Given the description of an element on the screen output the (x, y) to click on. 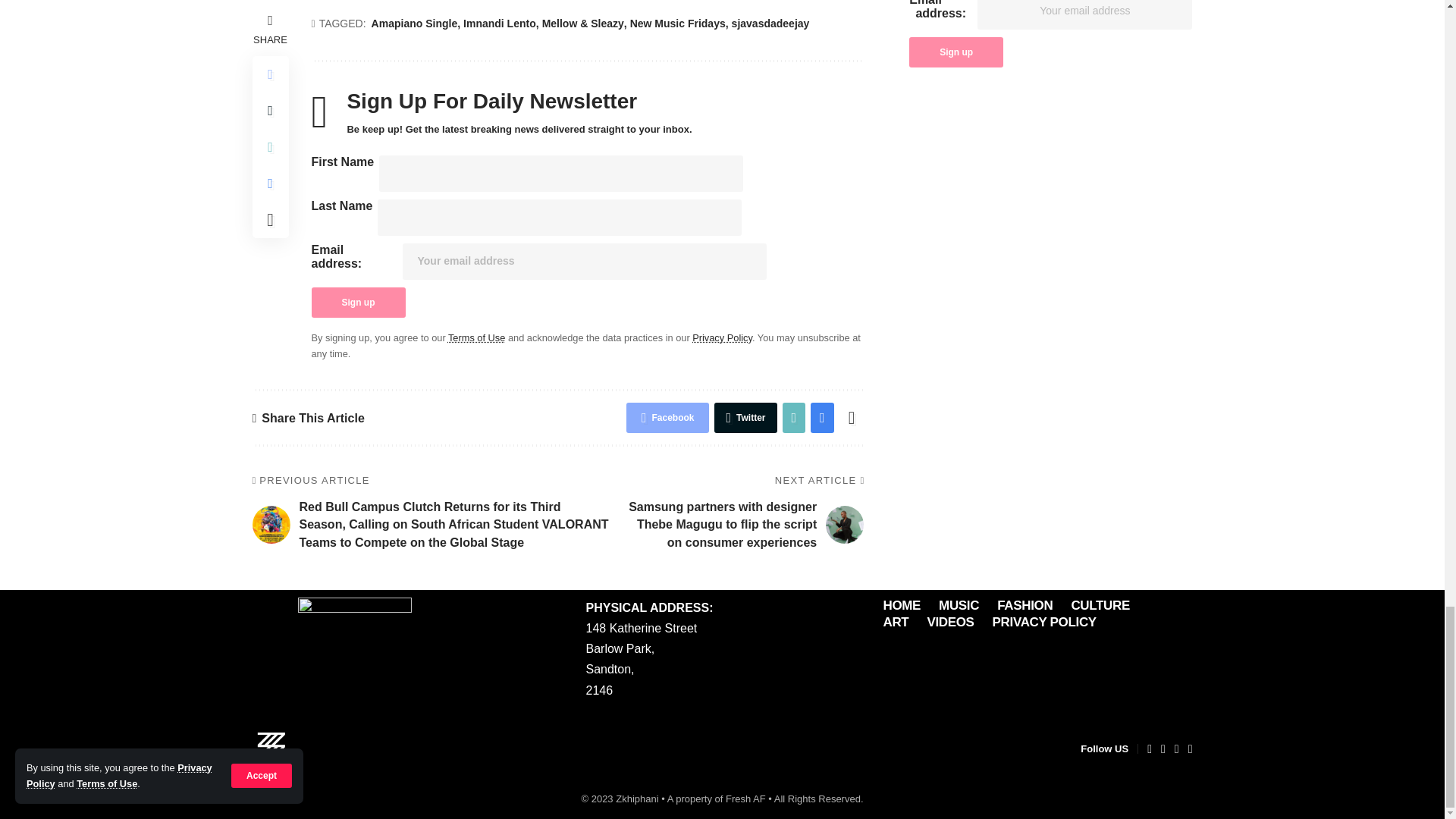
Zkhiphani (270, 749)
Sign up (357, 302)
